Given the description of an element on the screen output the (x, y) to click on. 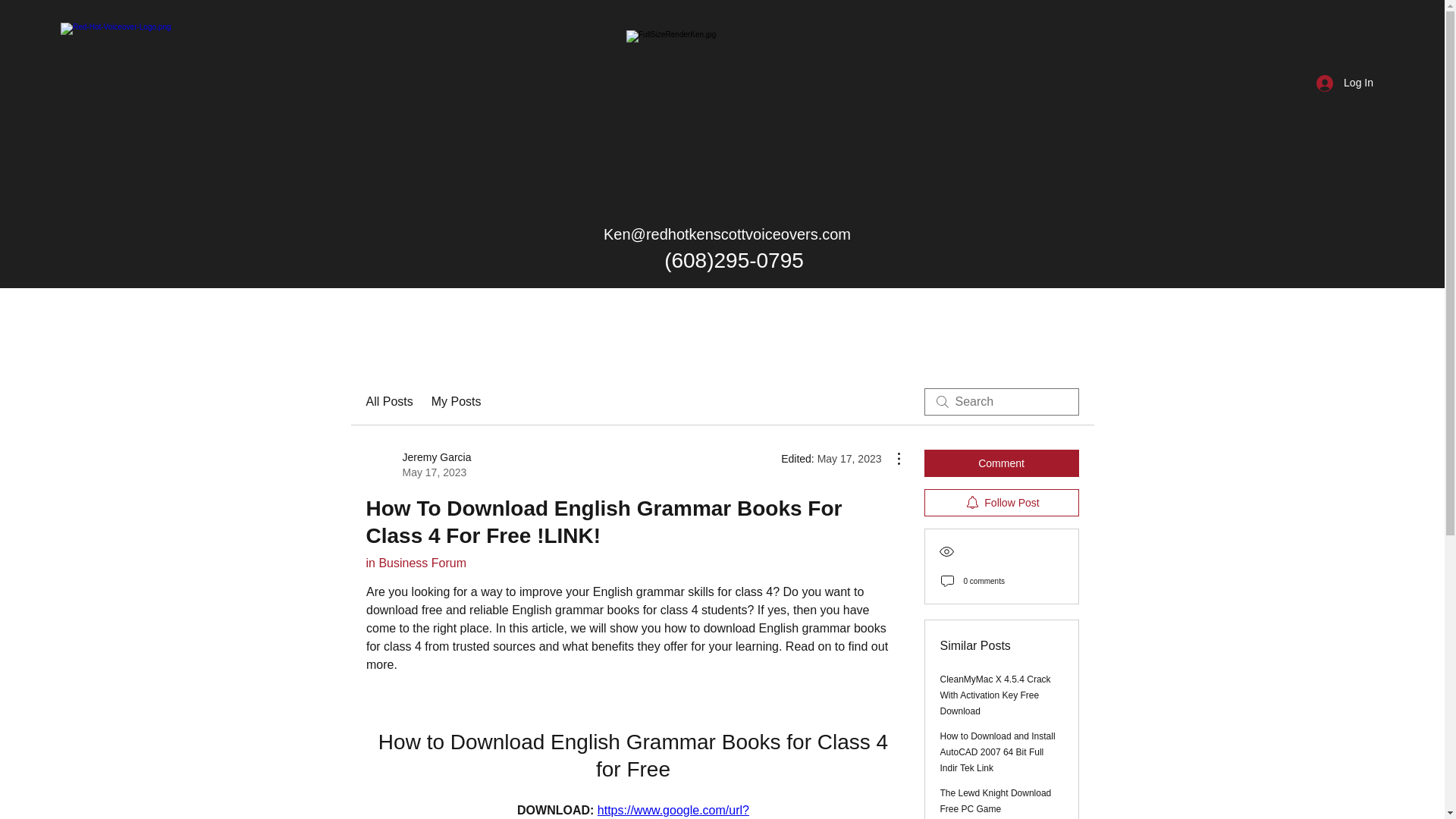
My Posts (455, 402)
Comment (1000, 462)
Follow Post (1000, 502)
All Posts (388, 402)
in Business Forum (415, 562)
Log In (1345, 82)
CleanMyMac X 4.5.4 Crack With Activation Key Free Download (995, 695)
The Lewd Knight Download Free PC Game (995, 800)
